Given the description of an element on the screen output the (x, y) to click on. 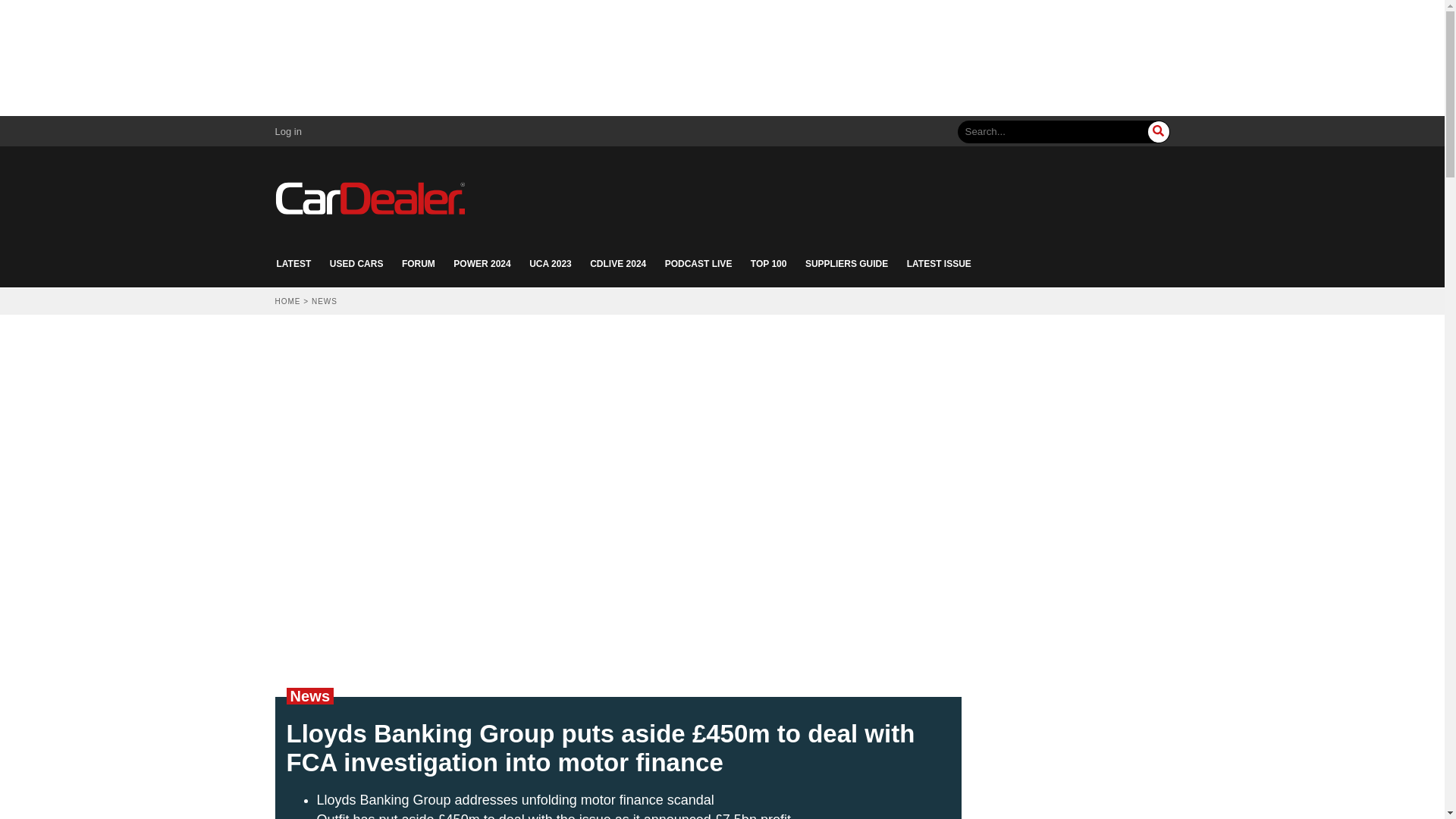
SUPPLIERS GUIDE (846, 263)
UCA 2023 (550, 263)
CDLIVE 2024 (617, 263)
News (309, 695)
FORUM (418, 263)
LATEST ISSUE (939, 263)
TOP 100 (769, 263)
PODCAST LIVE (698, 263)
POWER 2024 (481, 263)
HOME (287, 301)
